Given the description of an element on the screen output the (x, y) to click on. 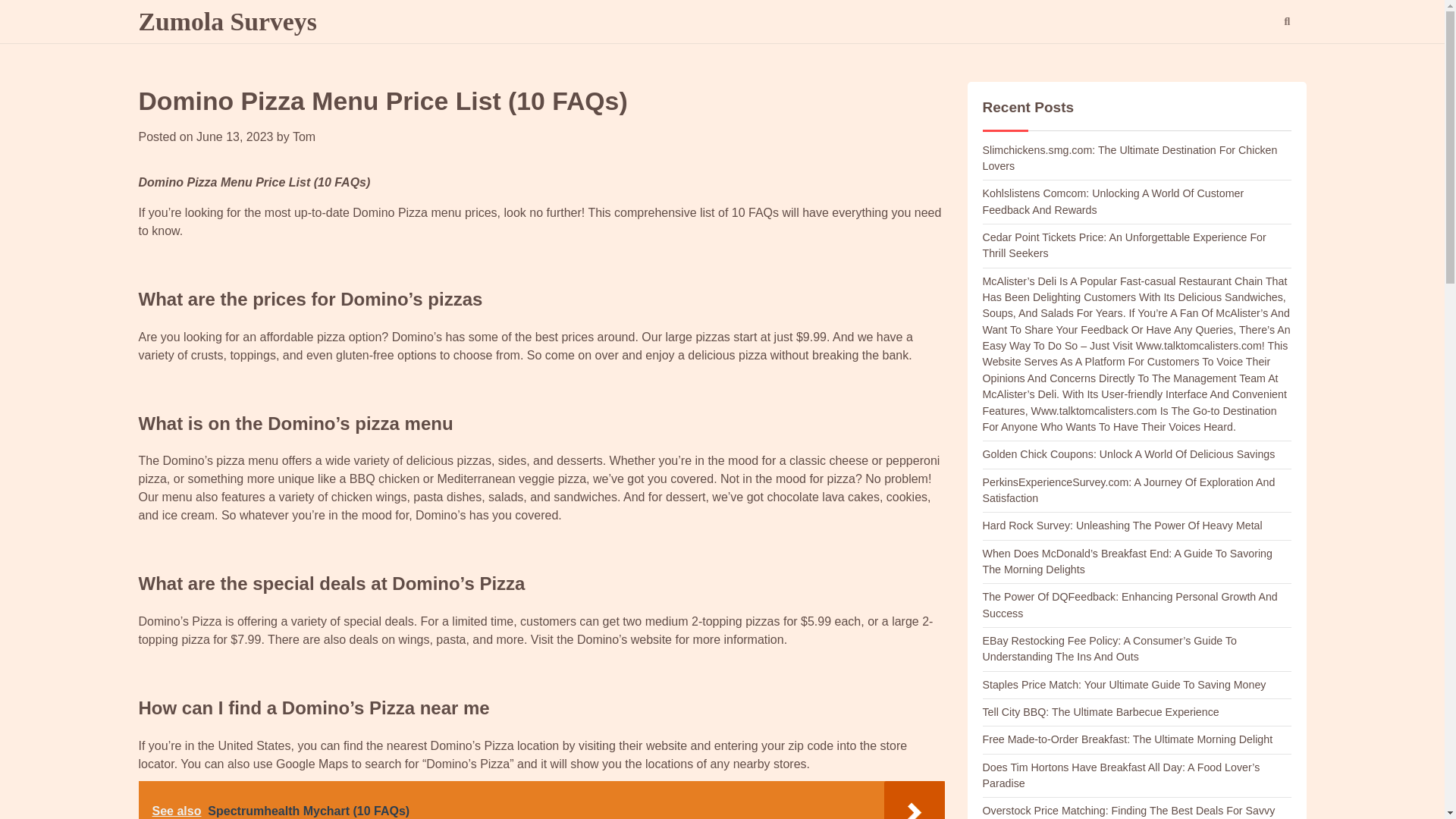
June 13, 2023 (234, 136)
Search (1259, 60)
Staples Price Match: Your Ultimate Guide To Saving Money (1124, 684)
Tell City BBQ: The Ultimate Barbecue Experience (1101, 711)
Free Made-to-Order Breakfast: The Ultimate Morning Delight (1127, 739)
Zumola Surveys (226, 21)
Hard Rock Survey: Unleashing The Power Of Heavy Metal (1122, 525)
Golden Chick Coupons: Unlock A World Of Delicious Savings (1128, 453)
Tom (303, 136)
